Given the description of an element on the screen output the (x, y) to click on. 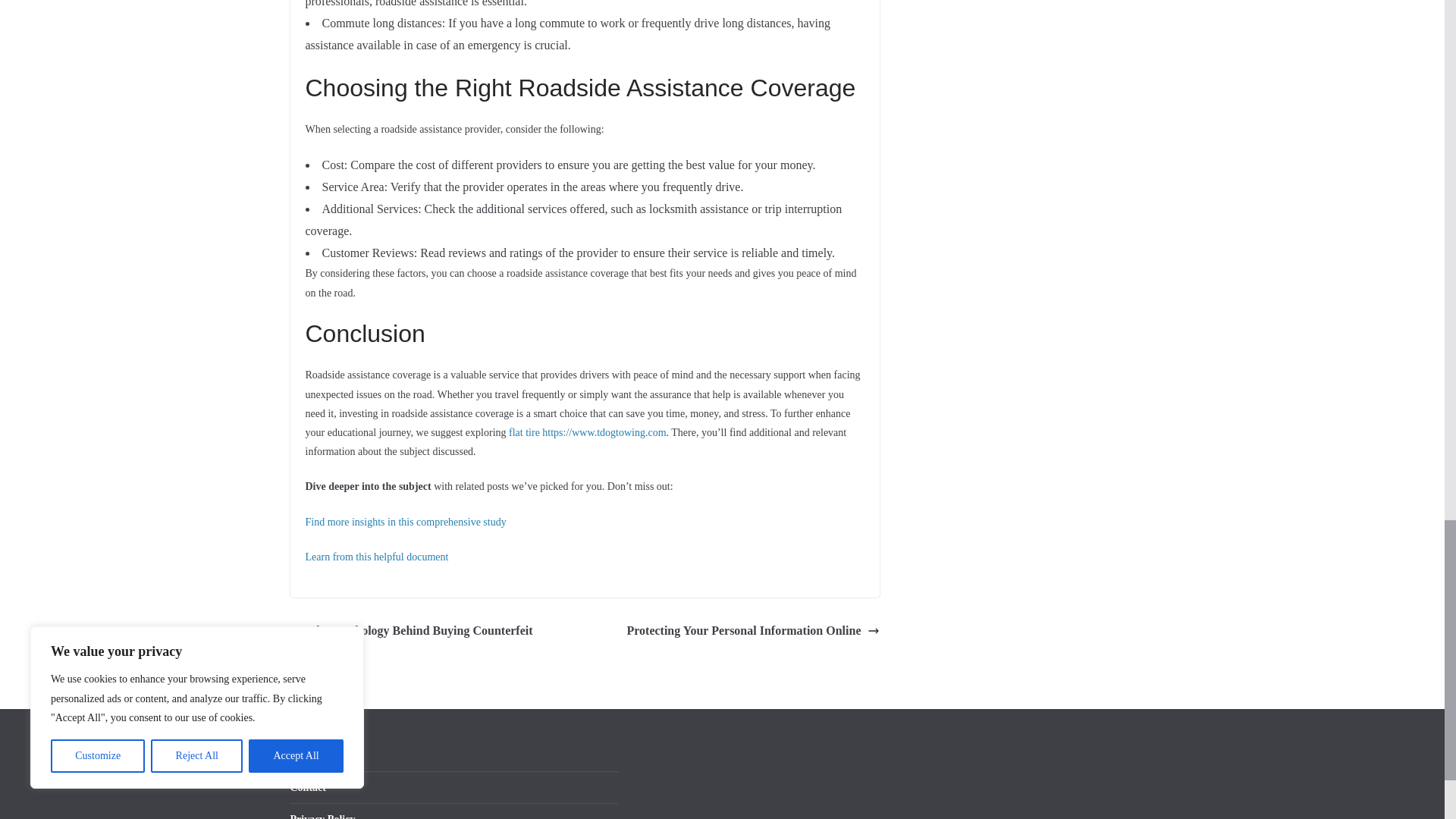
The Psychology Behind Buying Counterfeit Products (432, 641)
Protecting Your Personal Information Online (752, 630)
Learn from this helpful document (376, 556)
Find more insights in this comprehensive study (404, 521)
